Given the description of an element on the screen output the (x, y) to click on. 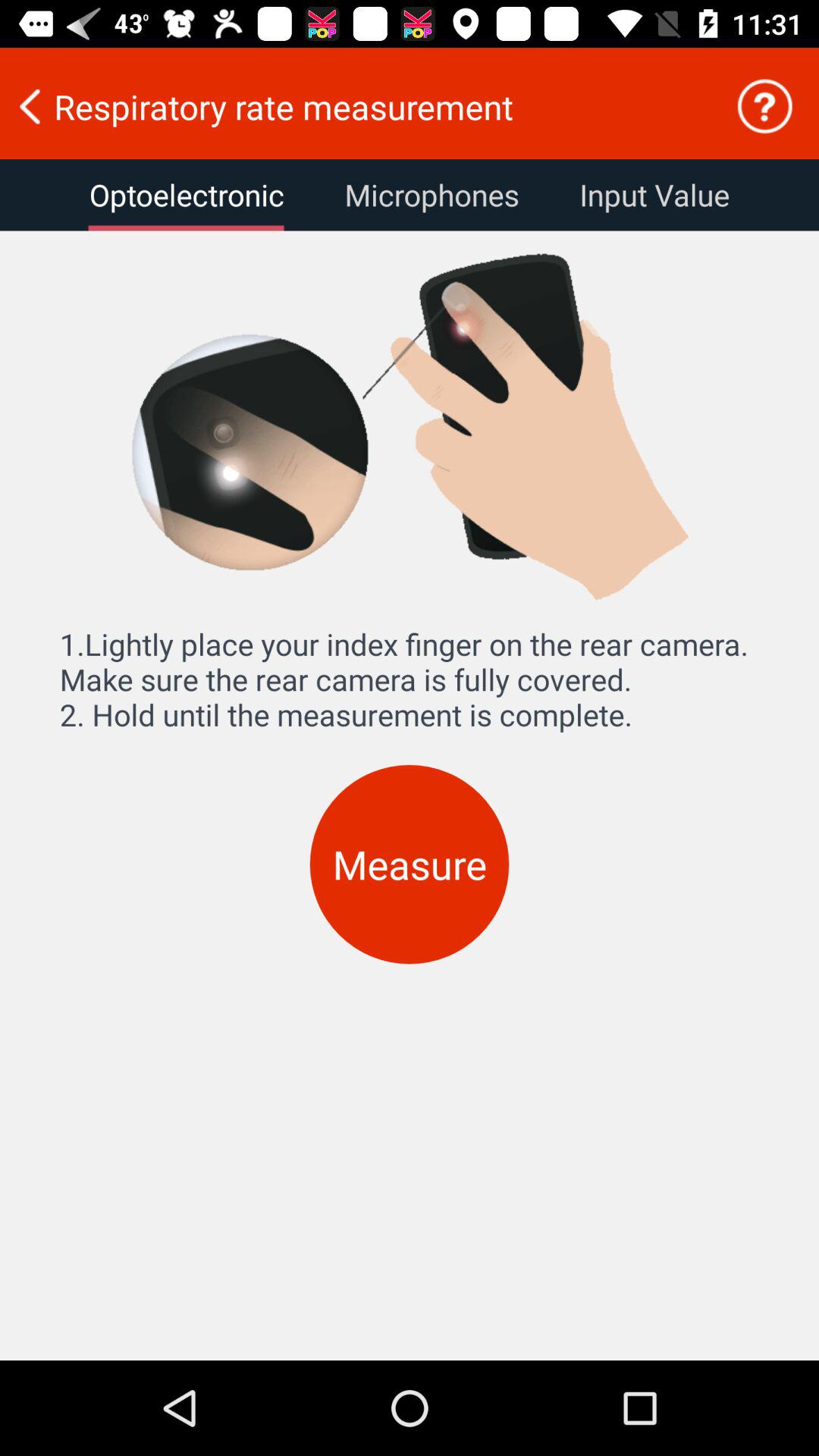
move to help (764, 106)
